Given the description of an element on the screen output the (x, y) to click on. 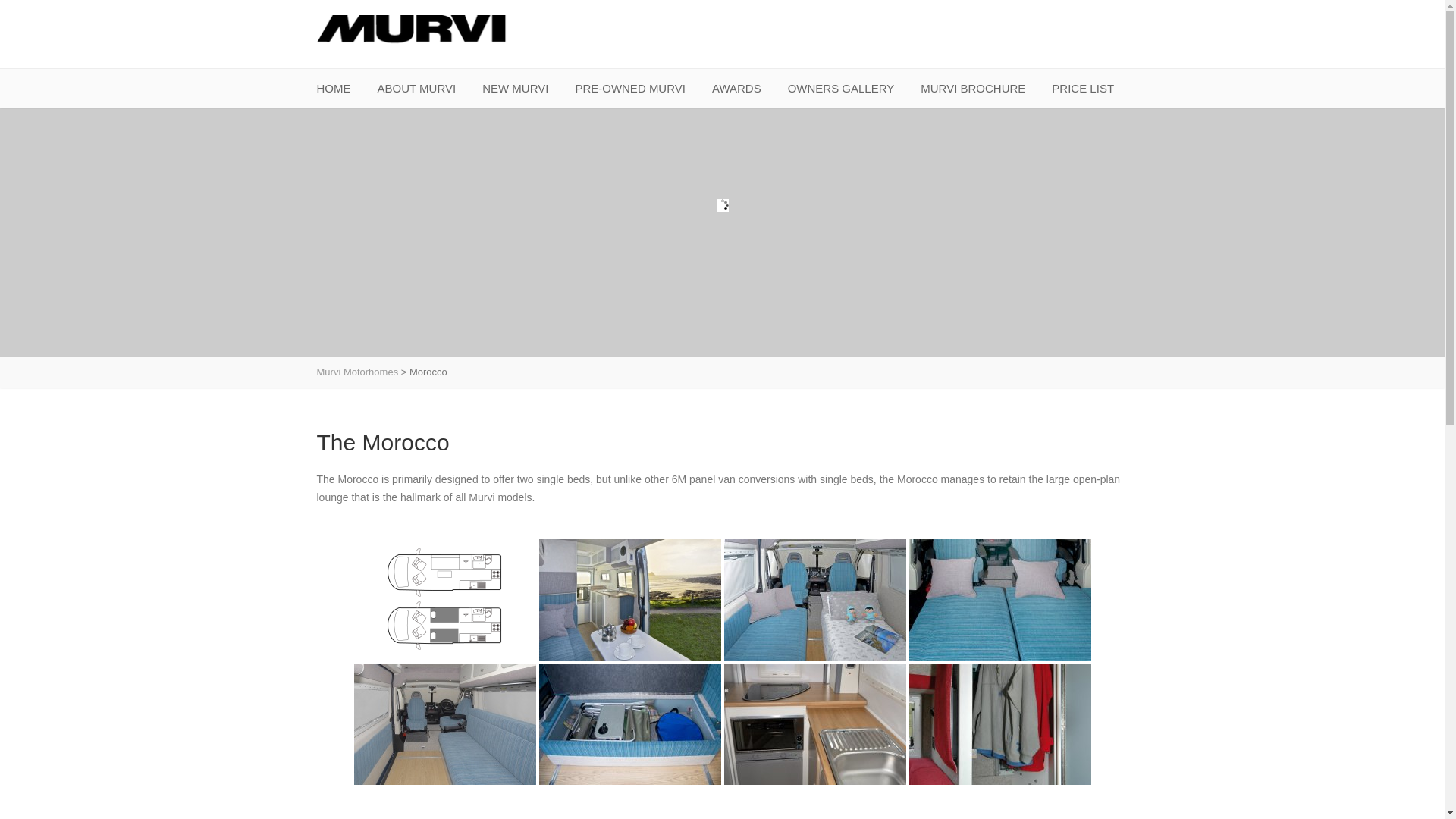
PRICE LIST (1082, 88)
MOROCCO-Storage-under-sofa300 (629, 723)
Murvi Motorhomes (411, 35)
Morocco-FP-1000px (444, 599)
WEBMOROCCO-WemburyView-through-doorway300 (629, 599)
Fiat-Murvi-Morocco-Lounge-72-1000px (444, 723)
MOROCO-Single-beds-looking-forward300 (814, 599)
MURVI BROCHURE (972, 88)
AWARDS (736, 88)
MOROCCO-DOUBLE-BED-300-portrait (999, 599)
